Given the description of an element on the screen output the (x, y) to click on. 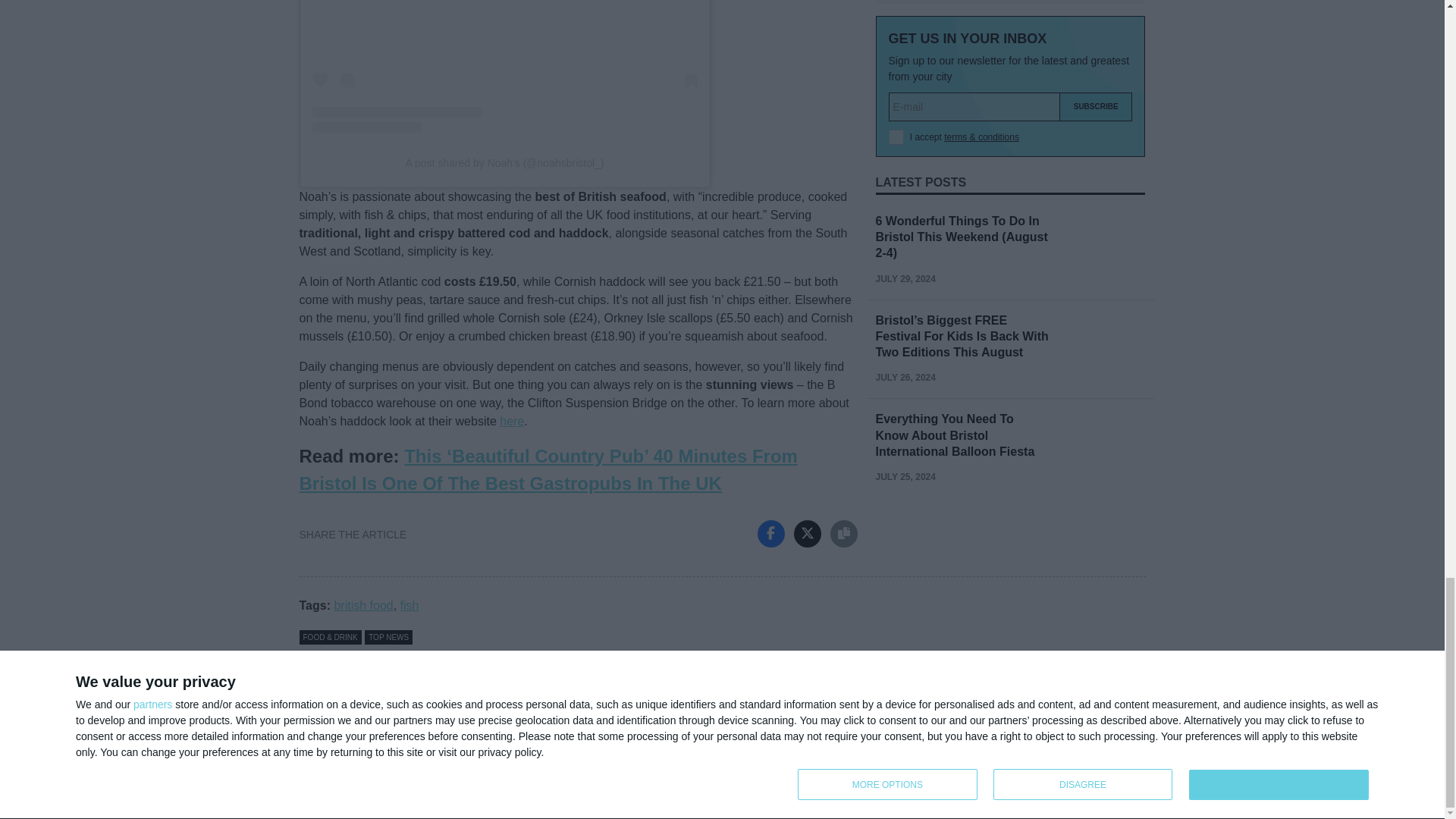
here (511, 420)
View this post on Instagram (505, 66)
